Given the description of an element on the screen output the (x, y) to click on. 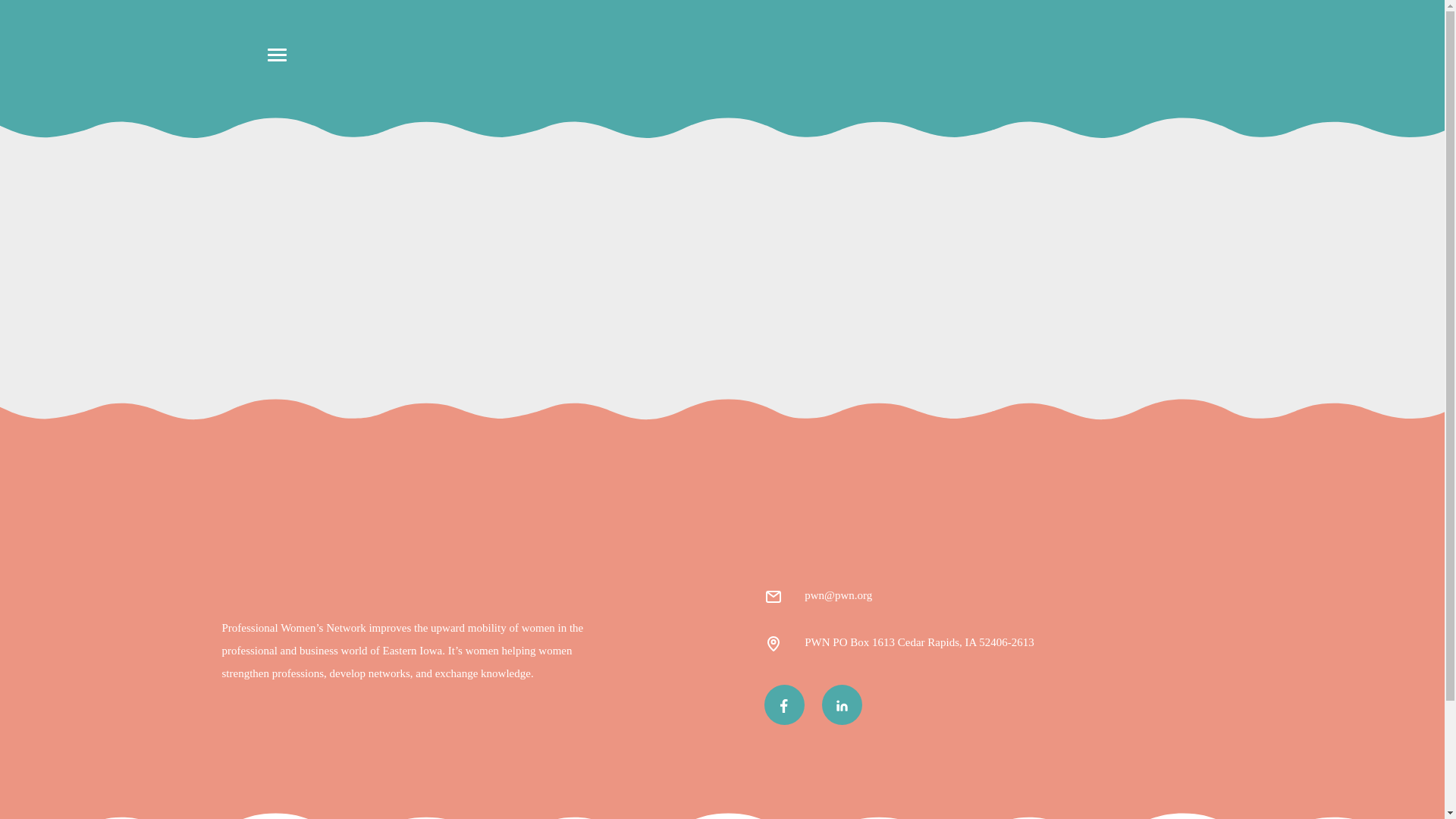
FAQS (1136, 34)
Membership (804, 34)
News (1072, 34)
PWN Scholarship (914, 34)
Home (661, 34)
Contact (1204, 34)
About (725, 34)
Events (1008, 34)
PWN PO Box 1613 Cedar Rapids, IA 52406-2613 (919, 641)
